Given the description of an element on the screen output the (x, y) to click on. 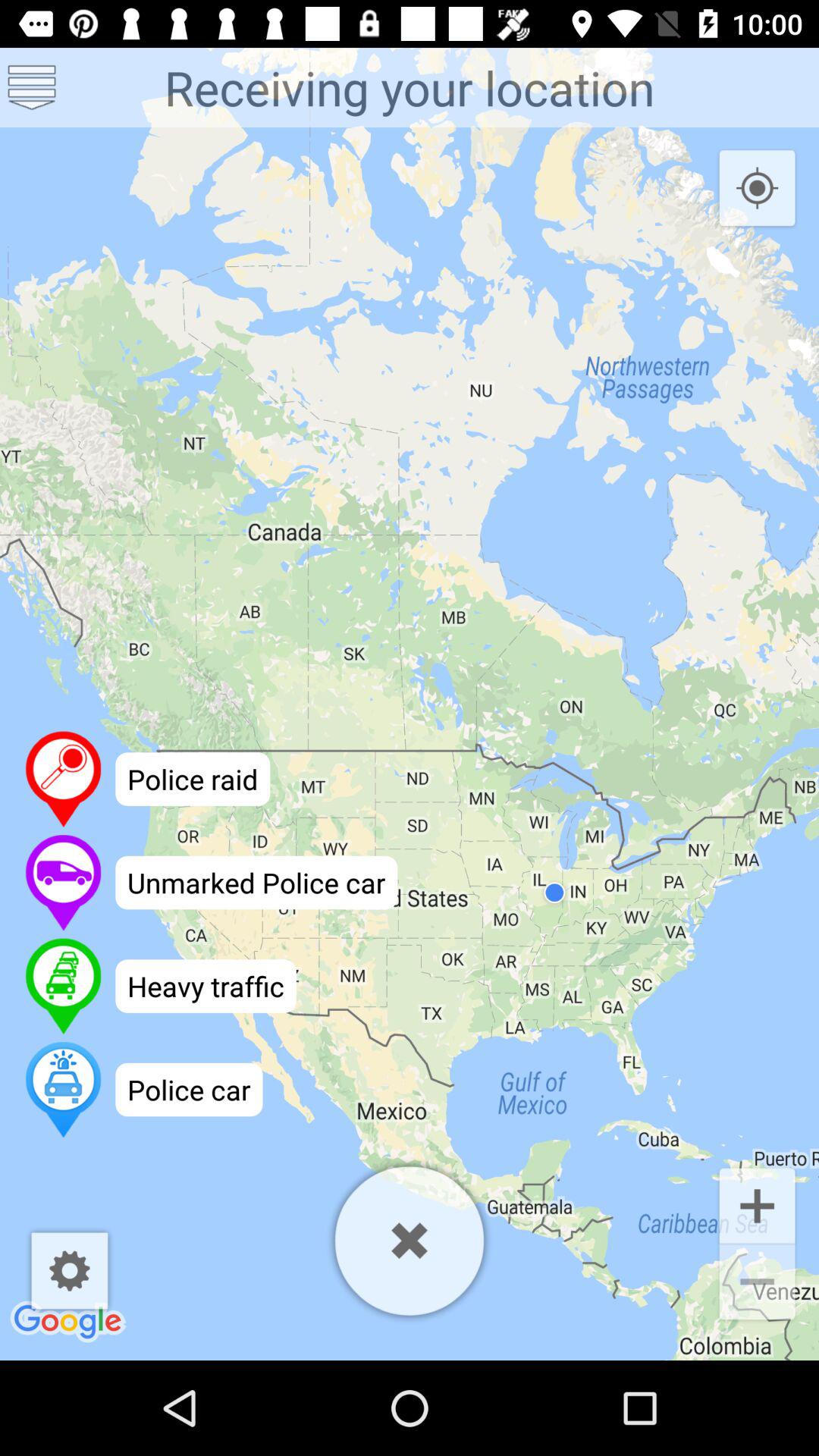
open menu (31, 87)
